Given the description of an element on the screen output the (x, y) to click on. 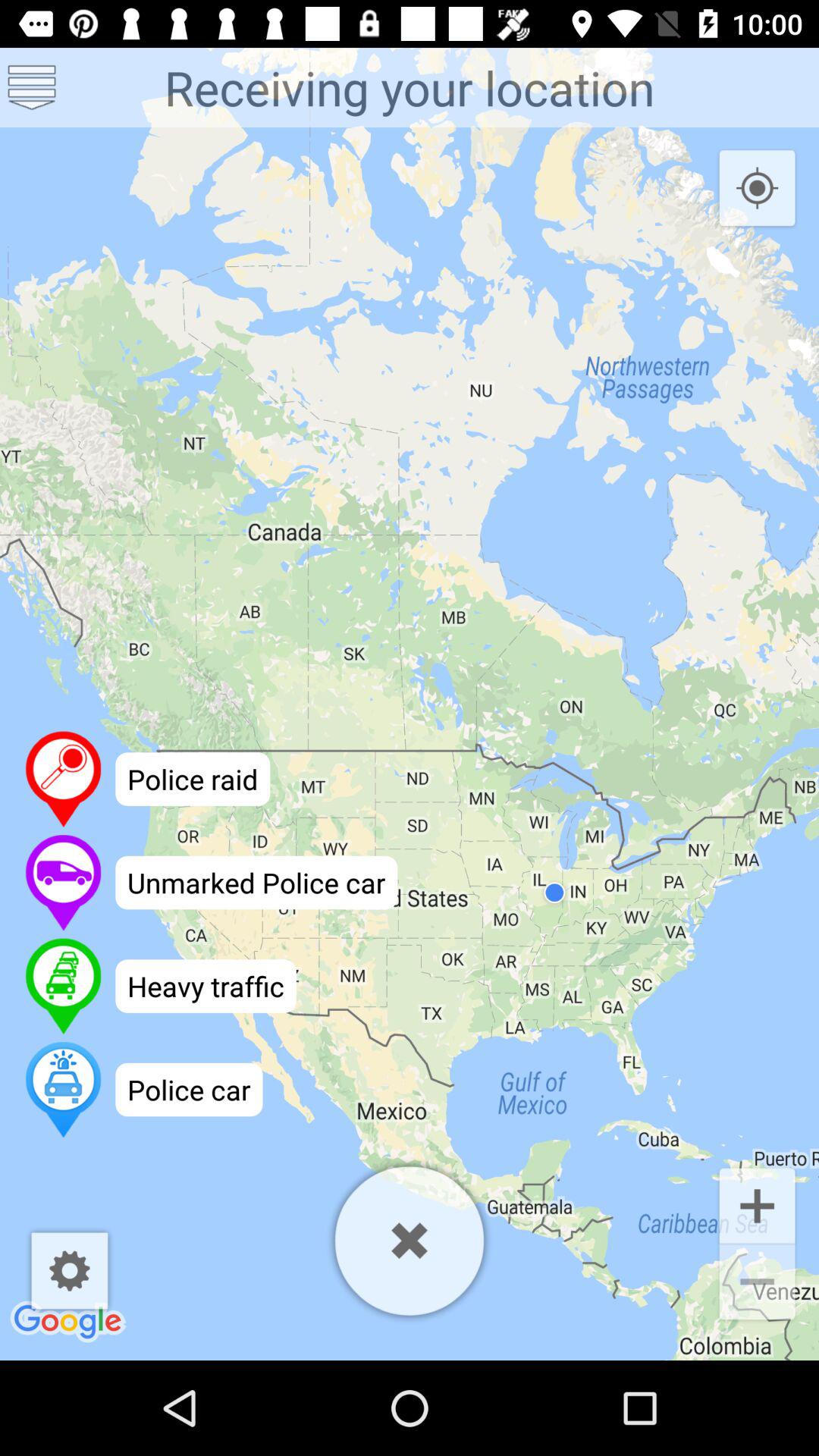
open menu (31, 87)
